Given the description of an element on the screen output the (x, y) to click on. 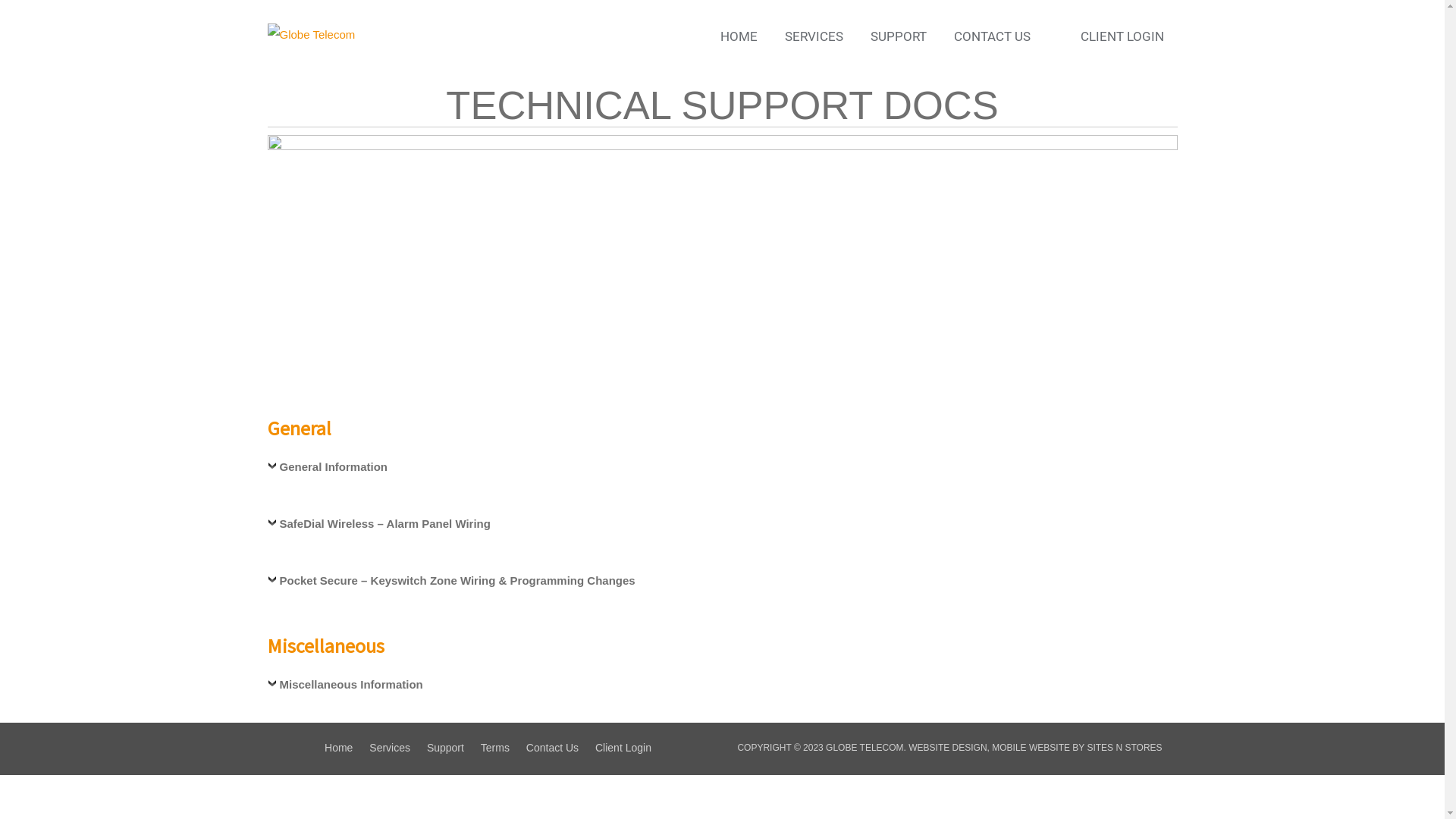
Client Login Element type: text (630, 748)
SERVICES Element type: text (814, 35)
Contact Us Element type: text (559, 748)
Globe Telecom Element type: hover (310, 33)
CLIENT LOGIN Element type: text (1121, 35)
Services Element type: text (396, 748)
WEBSITE DESIGN Element type: text (947, 747)
CONTACT US Element type: text (991, 35)
SUPPORT Element type: text (897, 35)
Terms Element type: text (501, 748)
SITES N STORES Element type: text (1123, 747)
MOBILE WEBSITE Element type: text (1030, 747)
Home Element type: text (345, 748)
HOME Element type: text (737, 35)
GLOBE TELECOM Element type: text (864, 747)
Support Element type: text (451, 748)
